Given the description of an element on the screen output the (x, y) to click on. 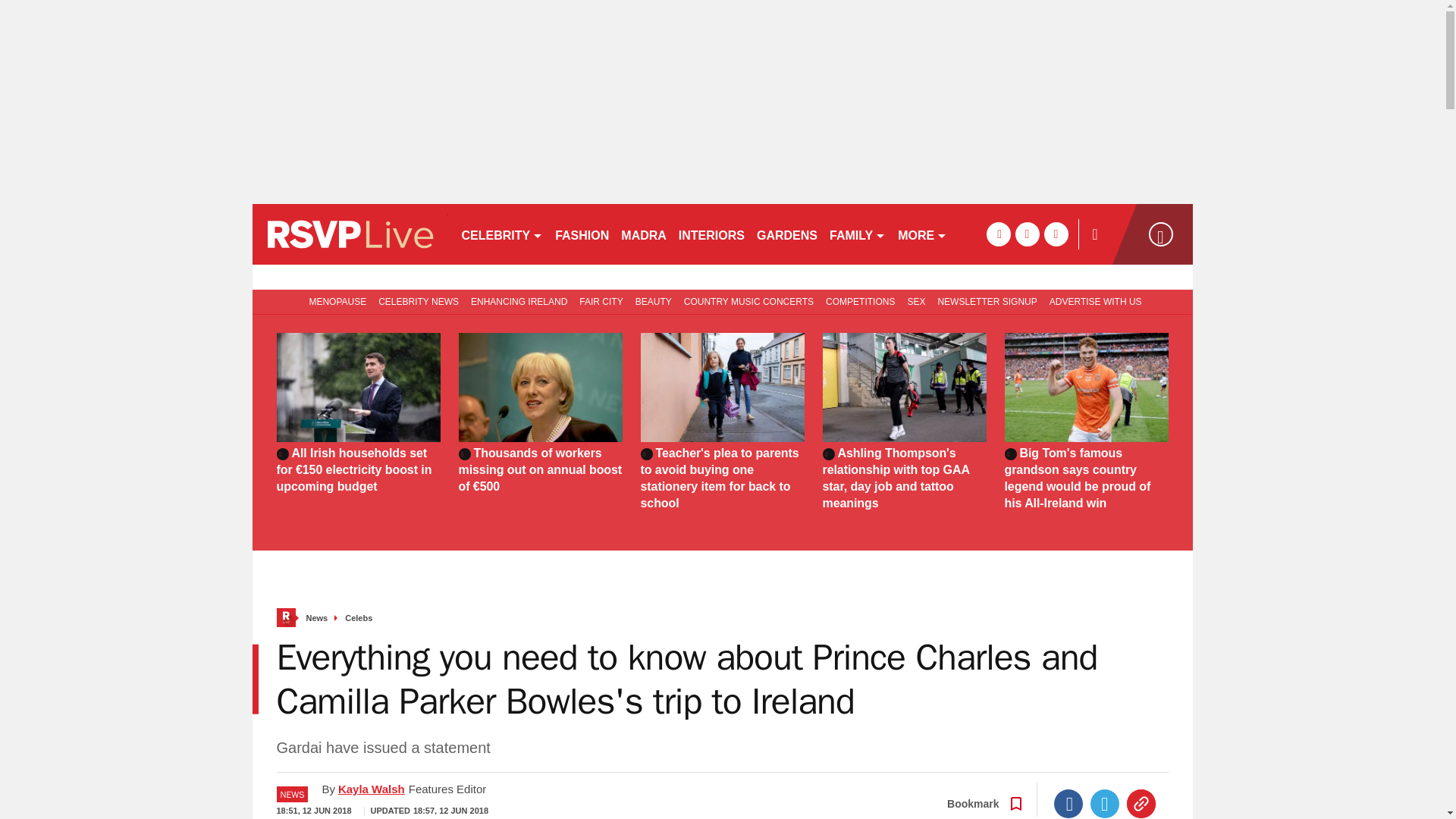
GARDENS (787, 233)
FAMILY (857, 233)
instagram (1055, 233)
rsvp (348, 233)
FASHION (581, 233)
MADRA (643, 233)
Facebook (1068, 803)
CELEBRITY (501, 233)
Twitter (1104, 803)
twitter (1026, 233)
